Given the description of an element on the screen output the (x, y) to click on. 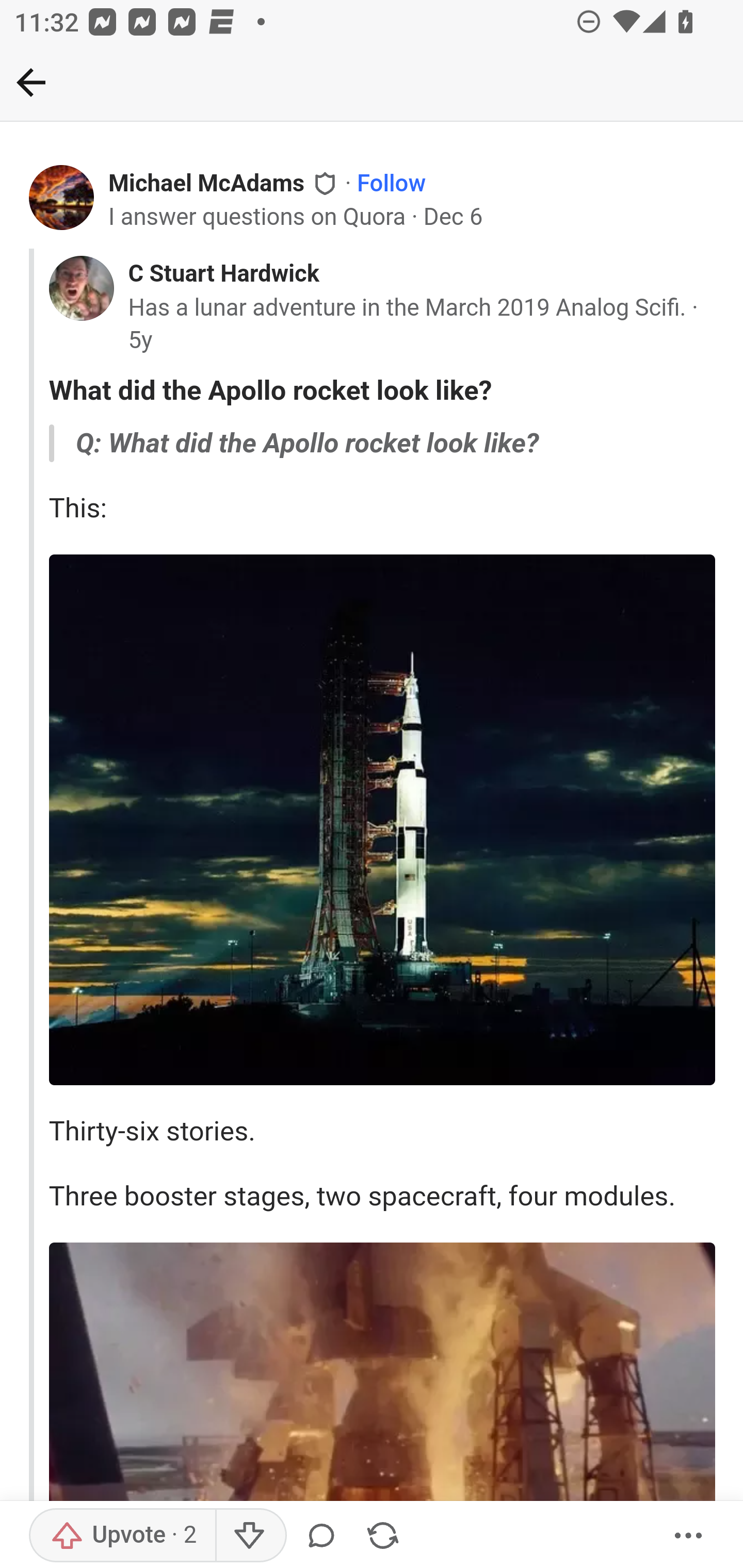
Back (30, 82)
Profile photo for Michael McAdams (61, 198)
Michael McAdams (206, 183)
Follow (391, 183)
Profile photo for C Stuart Hardwick (80, 288)
C Stuart Hardwick (223, 274)
What did the Apollo rocket look like? (381, 390)
main-qimg-9b573cb671c0377a7503782bfd3decb7 (381, 819)
main-qimg-39de525a45fa9918703527c1e14483db (381, 1404)
Upvote (122, 1535)
Downvote (249, 1535)
Comment (324, 1535)
Share (382, 1535)
More (688, 1535)
